Given the description of an element on the screen output the (x, y) to click on. 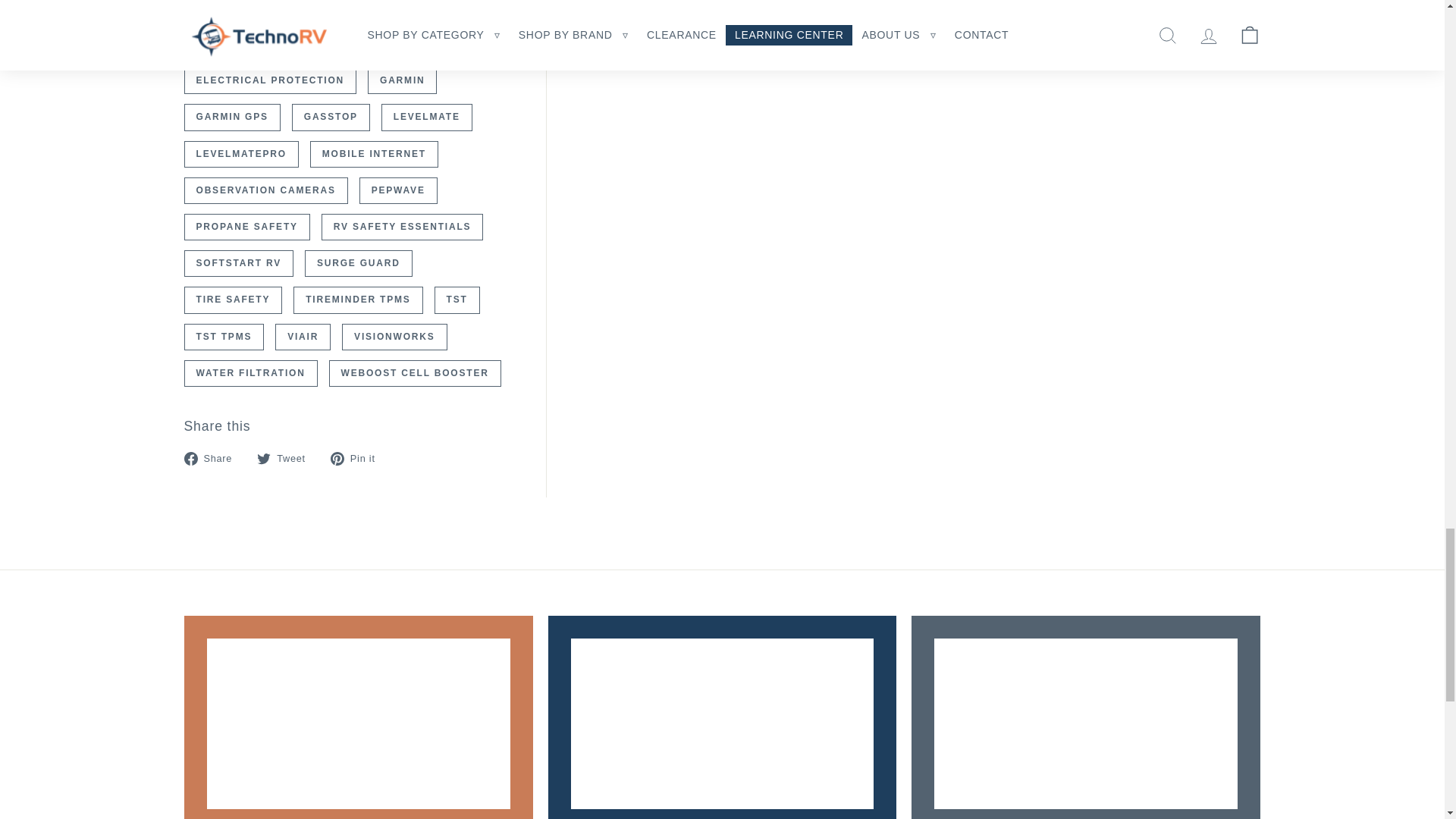
Tweet on Twitter (287, 457)
Share on Facebook (213, 457)
twitter (263, 459)
Pin on Pinterest (358, 457)
